Given the description of an element on the screen output the (x, y) to click on. 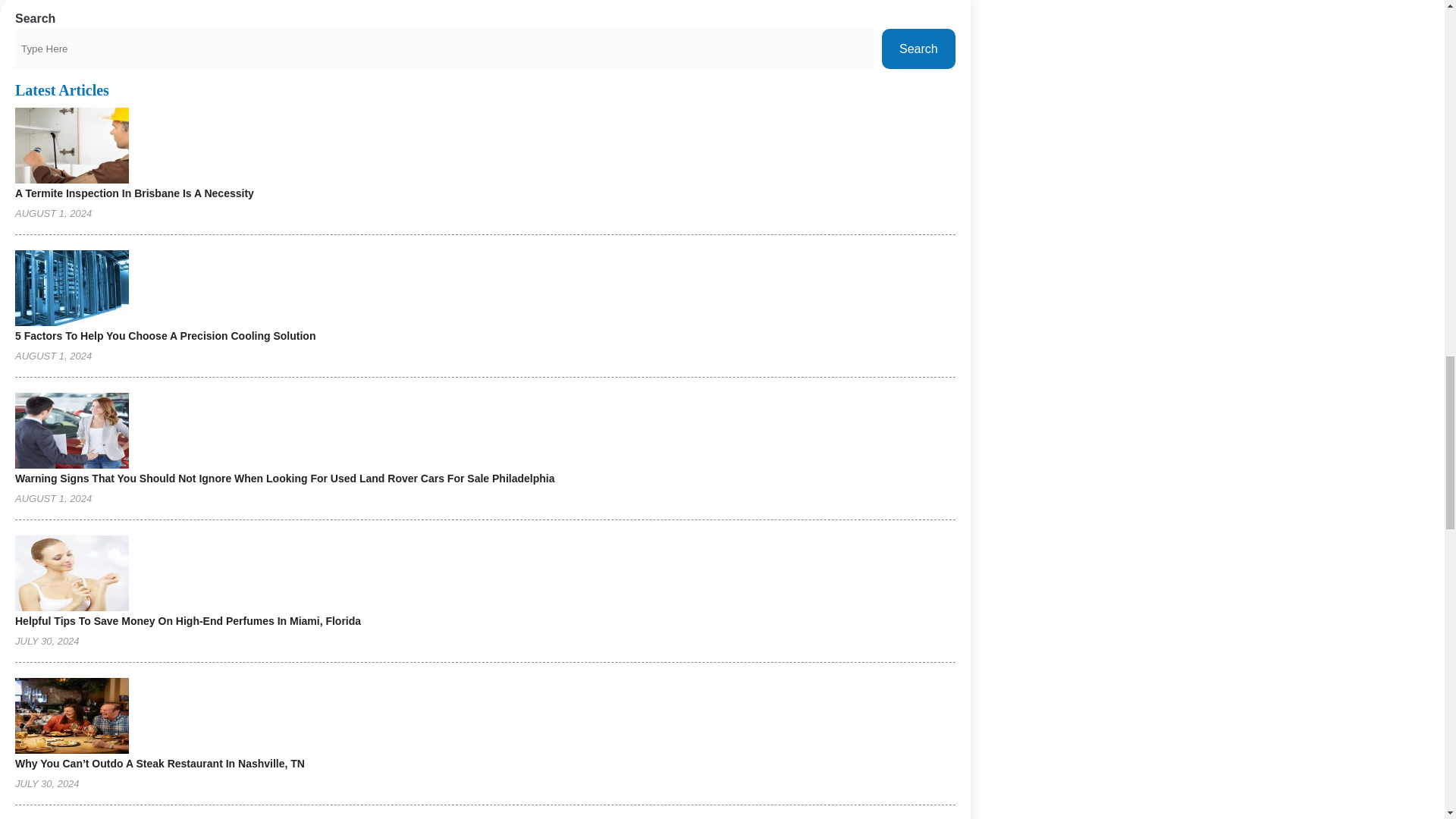
5 Factors To Help You Choose A Precision Cooling Solution (164, 336)
Search (918, 48)
A Termite Inspection In Brisbane Is A Necessity (133, 193)
